Given the description of an element on the screen output the (x, y) to click on. 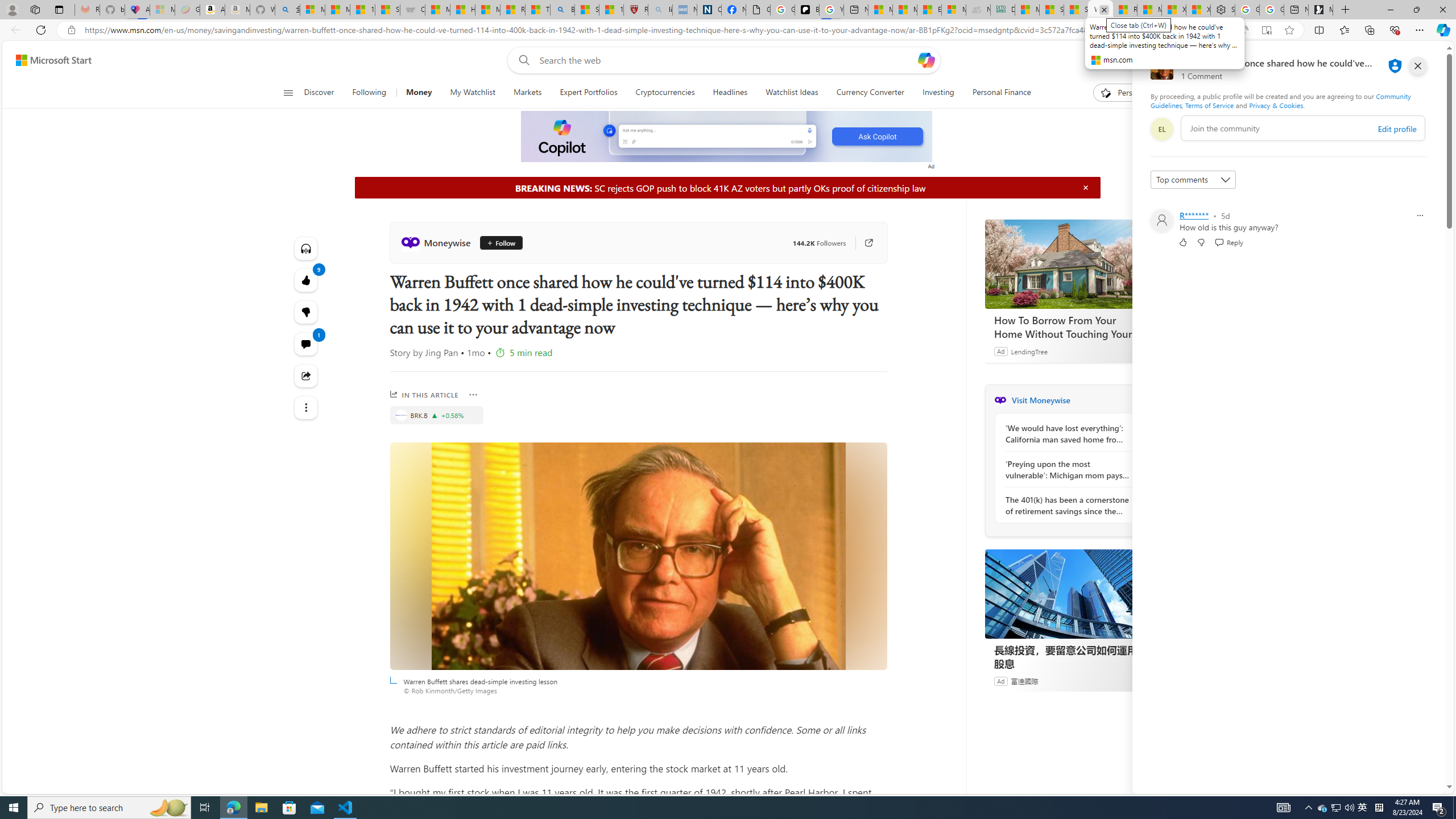
Report comment (1419, 215)
close (1417, 65)
